Given the description of an element on the screen output the (x, y) to click on. 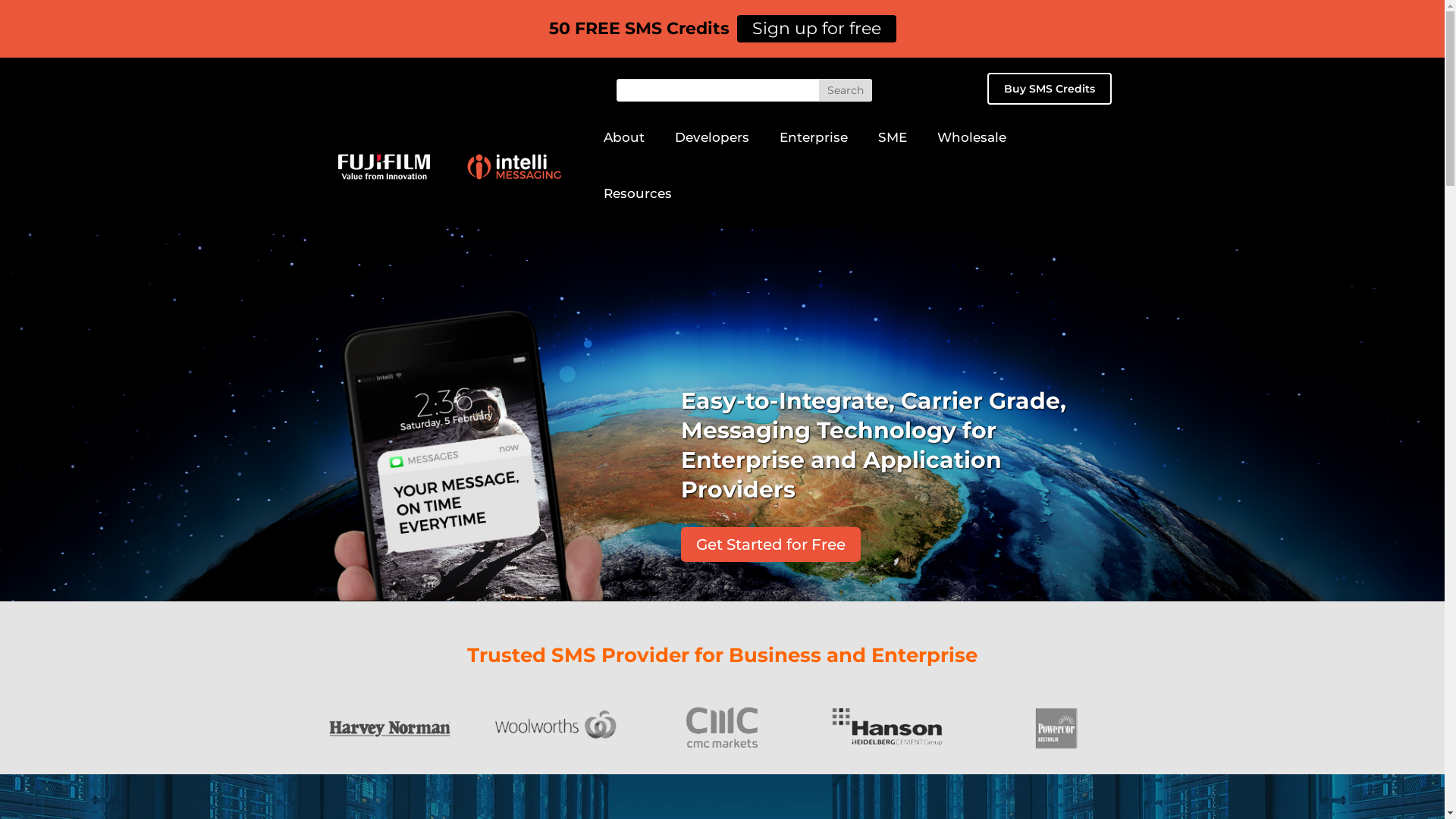
About Element type: text (623, 144)
Resources Element type: text (637, 200)
Sign up for free Element type: text (816, 28)
Wholesale Element type: text (971, 144)
SME Element type: text (892, 144)
Buy SMS Credits Element type: text (1049, 88)
Search Element type: text (845, 89)
Developers Element type: text (711, 144)
Enterprise Element type: text (813, 144)
Get Started for Free Element type: text (770, 544)
